Given the description of an element on the screen output the (x, y) to click on. 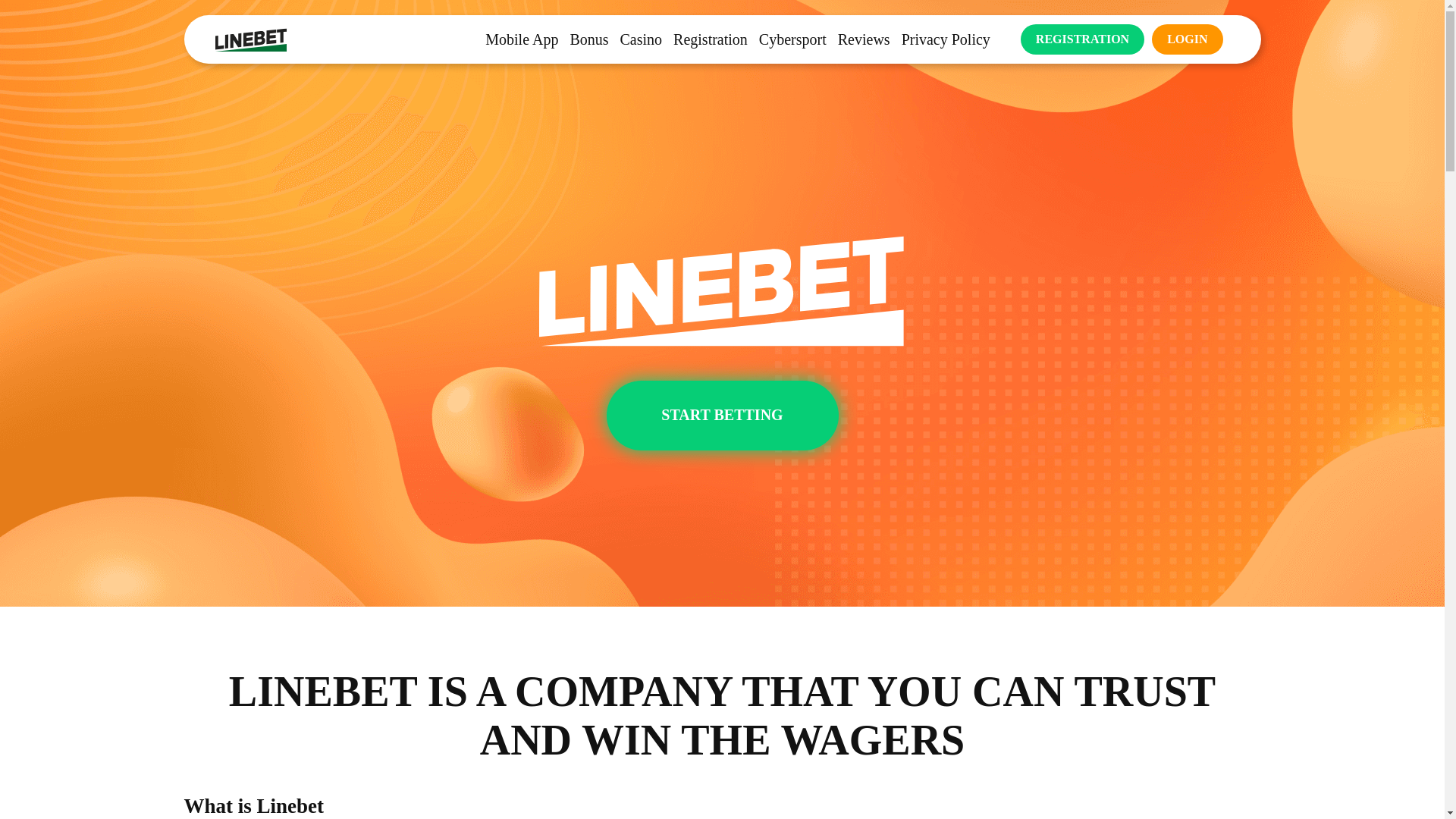
REGISTRATION (1082, 39)
Registration (710, 38)
Casino (641, 38)
Bonus (588, 38)
START BETTING (722, 415)
Reviews (863, 38)
Privacy Policy (945, 38)
LOGIN (1187, 39)
Mobile App (520, 38)
